Given the description of an element on the screen output the (x, y) to click on. 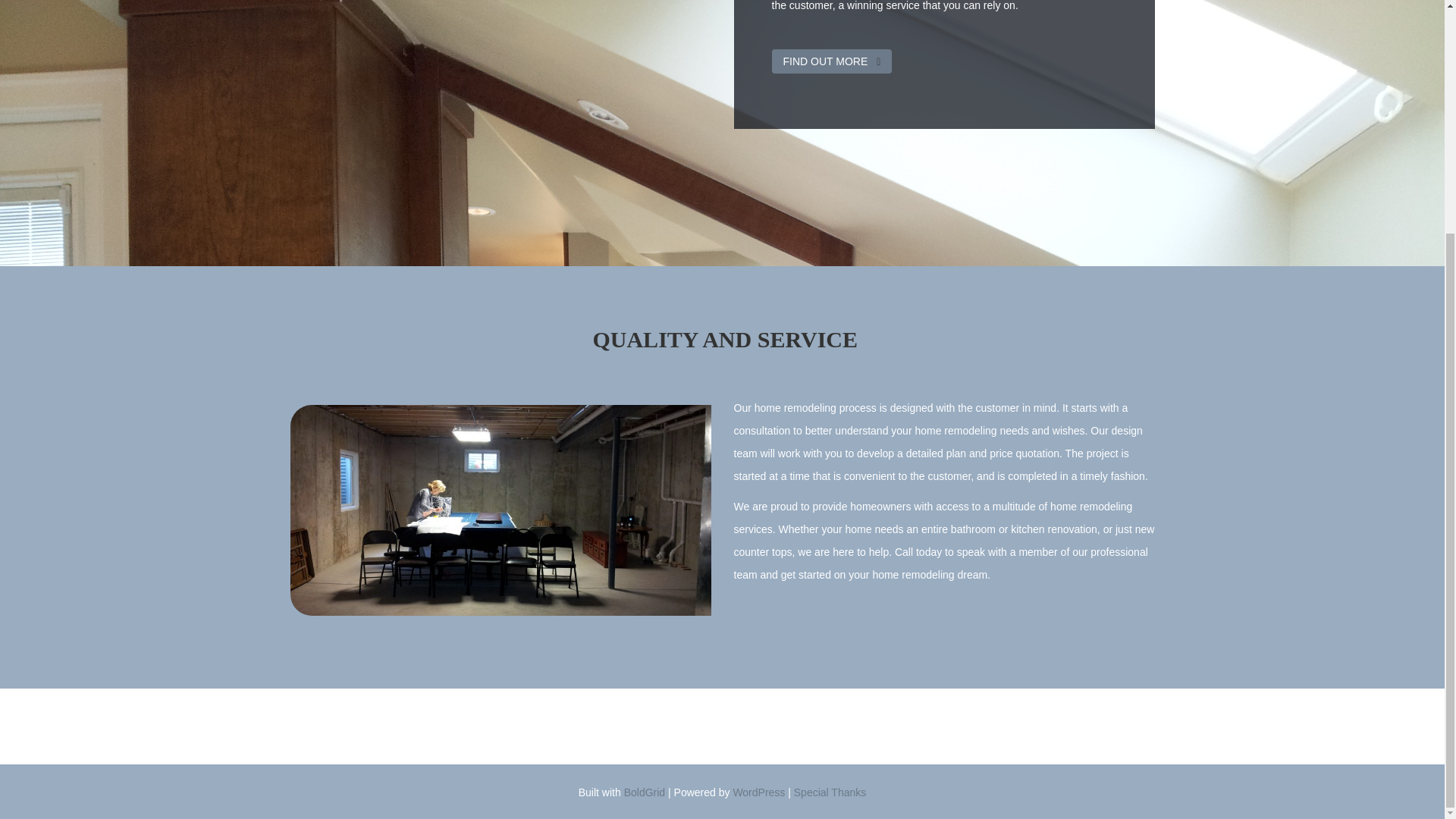
FIND OUT MORE (831, 61)
WordPress (758, 792)
BoldGrid (644, 792)
Special Thanks (829, 792)
